Given the description of an element on the screen output the (x, y) to click on. 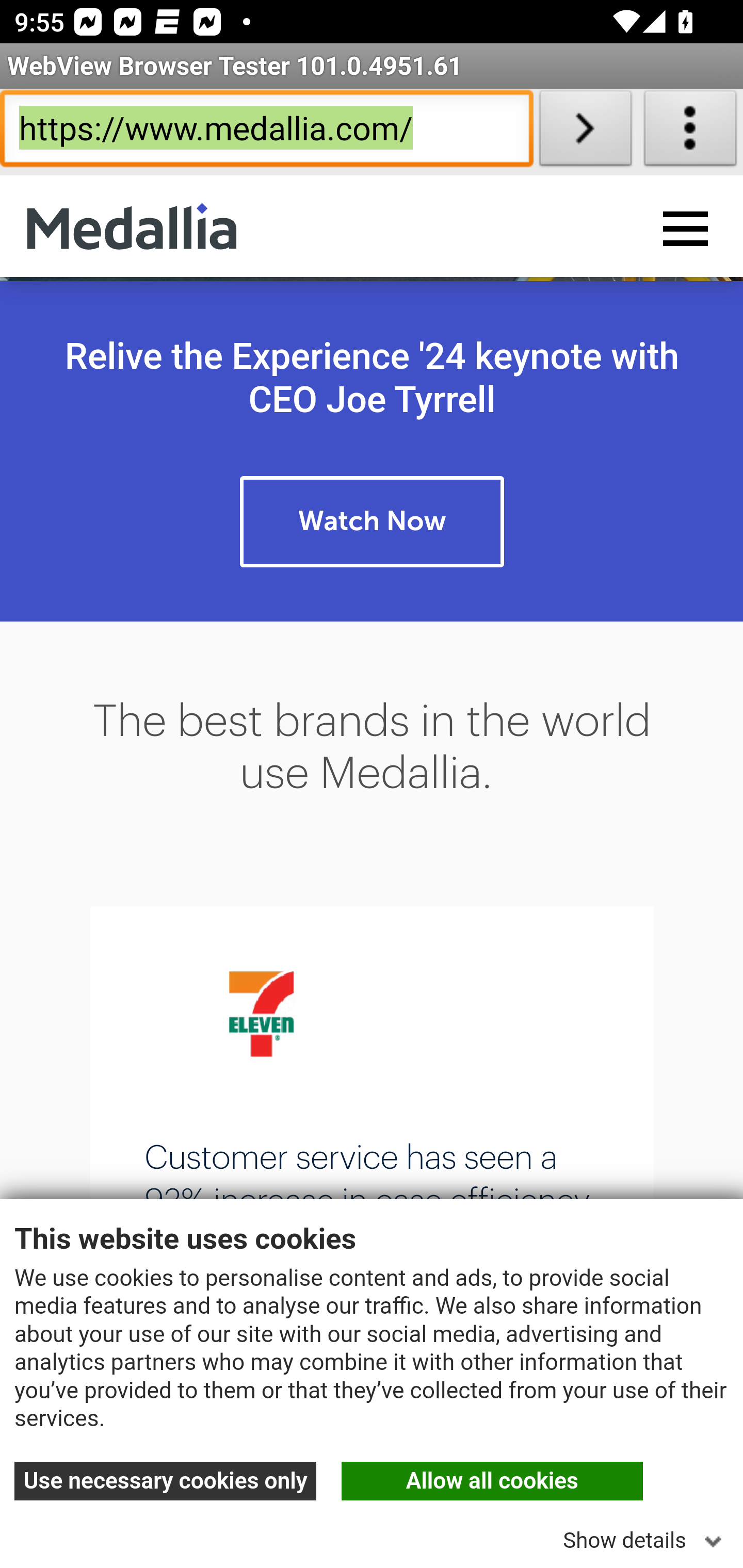
https://www.medallia.com/ (266, 132)
Load URL (585, 132)
About WebView (690, 132)
Medallia (131, 227)
Watch Now (371, 523)
Use necessary cookies only (166, 1482)
Allow all cookies (491, 1482)
Show details (646, 1534)
